Given the description of an element on the screen output the (x, y) to click on. 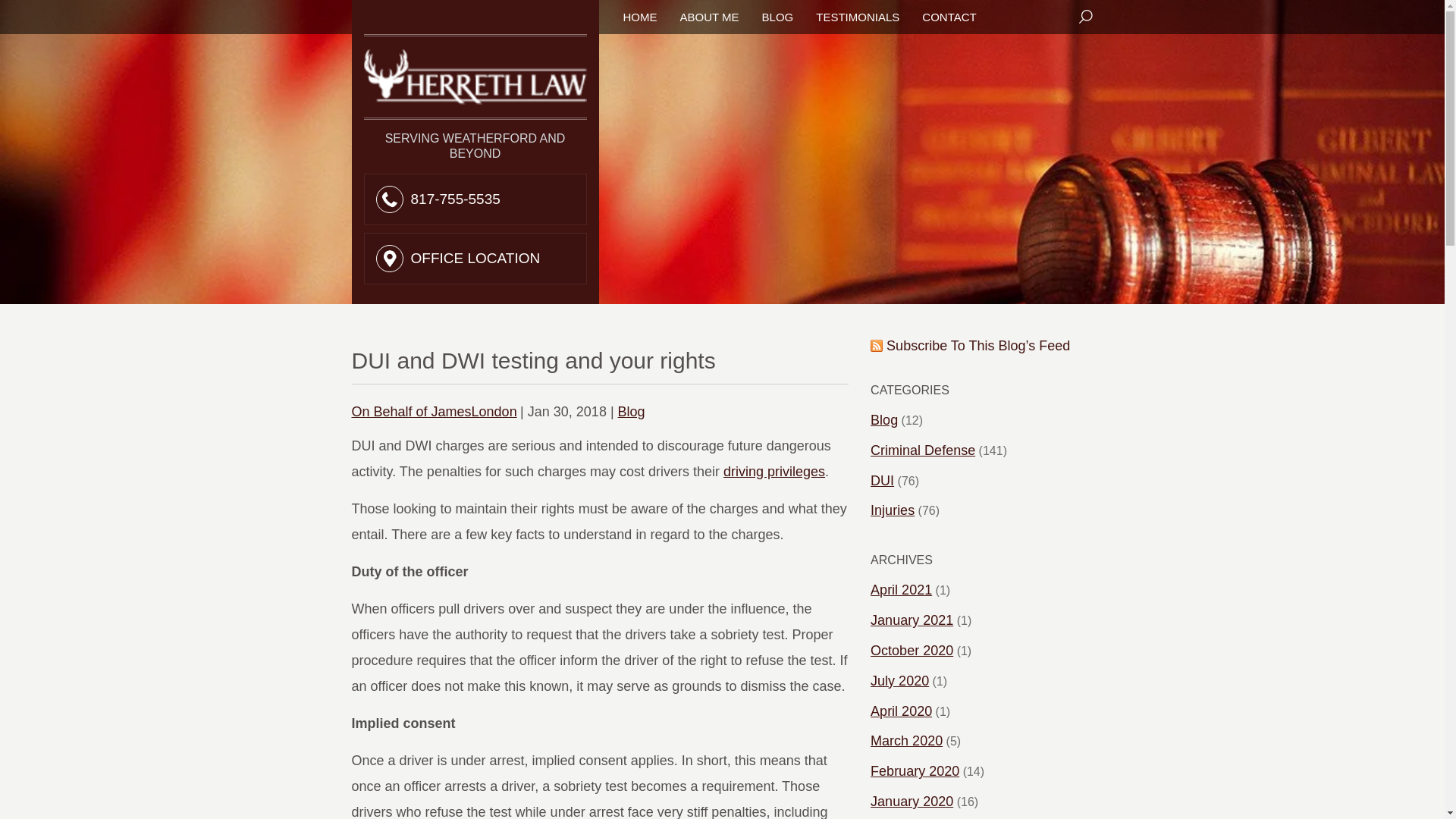
JamesLondon (434, 411)
Blog (631, 411)
February 2020 (914, 771)
July 2020 (899, 681)
Blog (884, 420)
January 2020 (911, 801)
April 2021 (900, 590)
driving privileges (774, 471)
October 2020 (911, 651)
OFFICE LOCATION (475, 258)
April 2020 (900, 711)
Injuries (892, 510)
Criminal Defense (922, 451)
ABOUT ME (708, 16)
On Behalf of JamesLondon (434, 411)
